Given the description of an element on the screen output the (x, y) to click on. 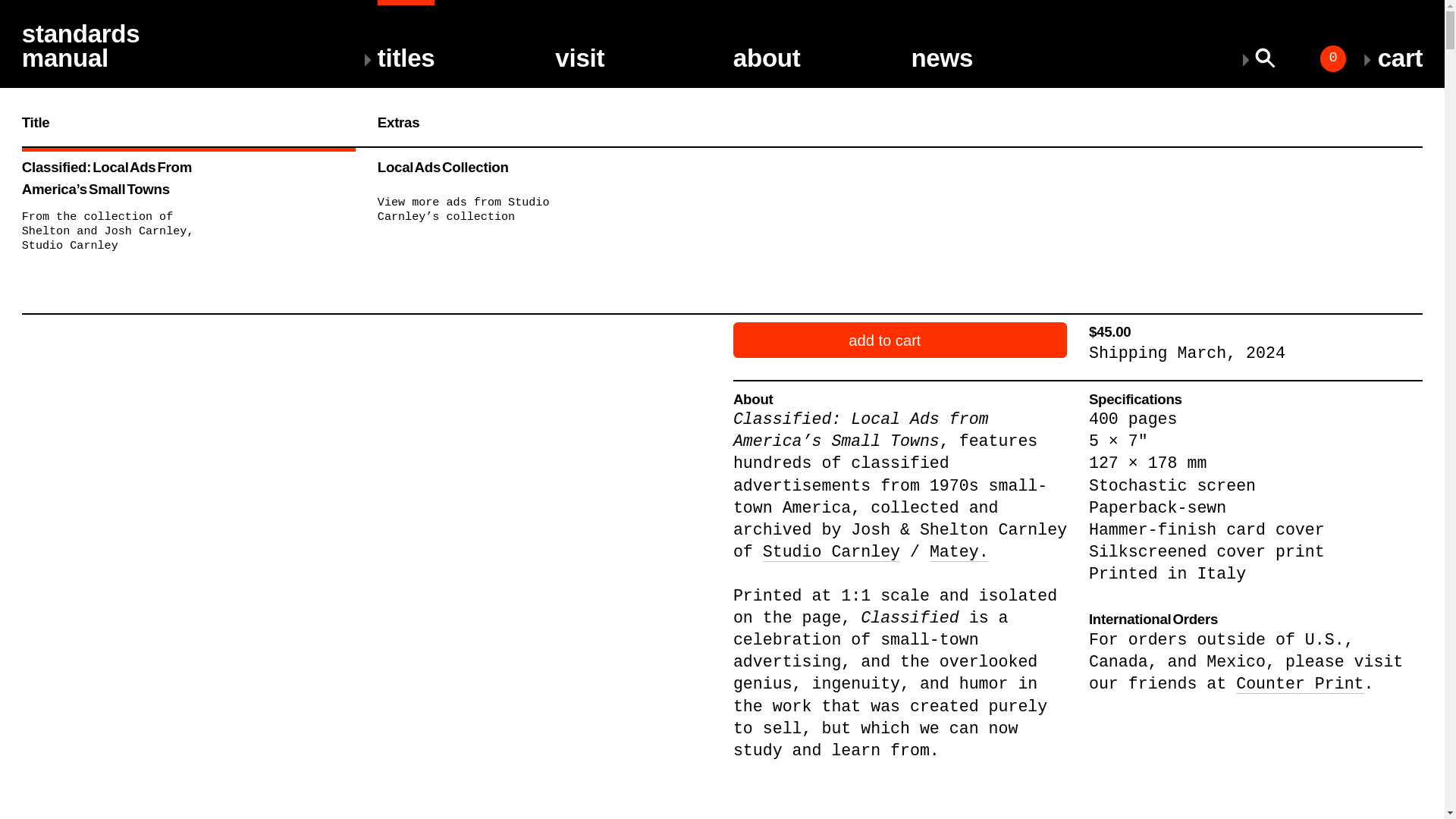
Counter Print (1299, 683)
news (941, 35)
Matey. (959, 551)
search (1356, 60)
about (766, 35)
titles (406, 35)
cart (1400, 35)
add to cart (900, 339)
visit (80, 35)
search (579, 35)
Studio Carnley (1356, 60)
